Given the description of an element on the screen output the (x, y) to click on. 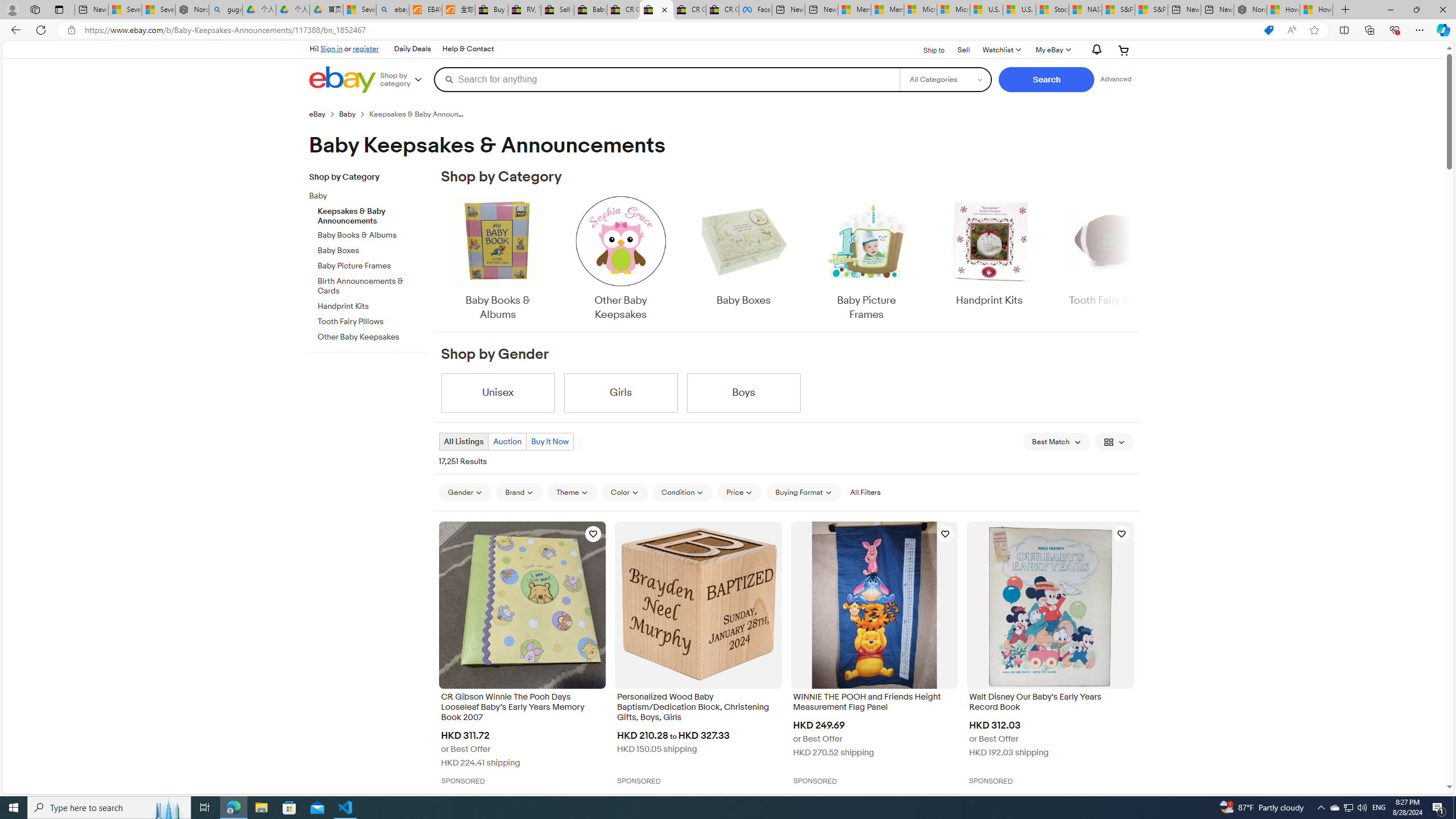
App bar (728, 29)
Expand Cart (1123, 49)
eBay Home (341, 79)
Back (13, 29)
Shop by category (405, 79)
Buy Auto Parts & Accessories | eBay (491, 9)
Baby Books & Albums (497, 258)
Condition (682, 492)
Advanced Search (1115, 78)
Price (739, 492)
This site has coupons! Shopping in Microsoft Edge (1268, 29)
Notifications (1093, 49)
Birth Announcements & Cards (371, 286)
